Given the description of an element on the screen output the (x, y) to click on. 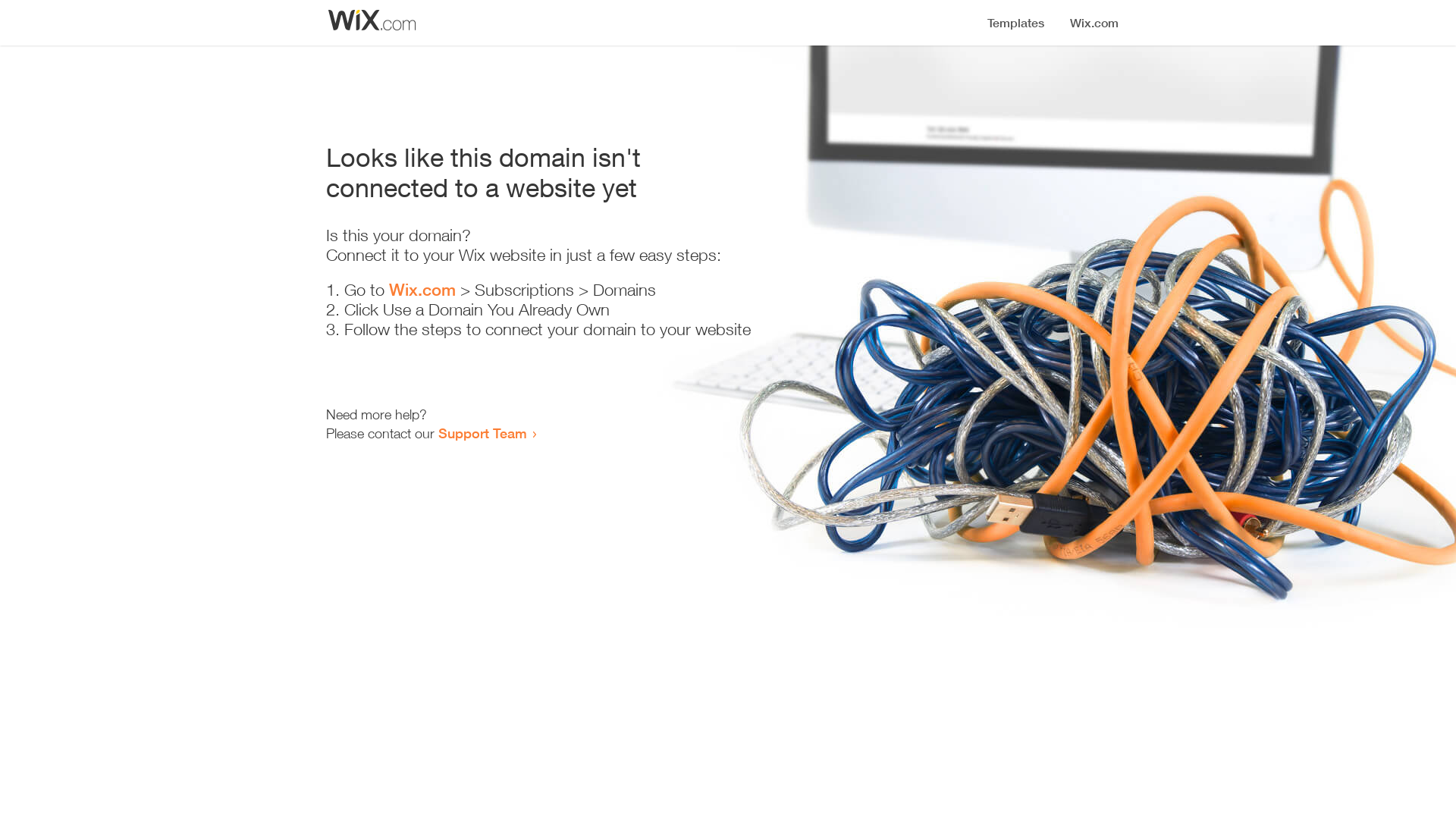
Support Team Element type: text (482, 432)
Wix.com Element type: text (422, 289)
